Given the description of an element on the screen output the (x, y) to click on. 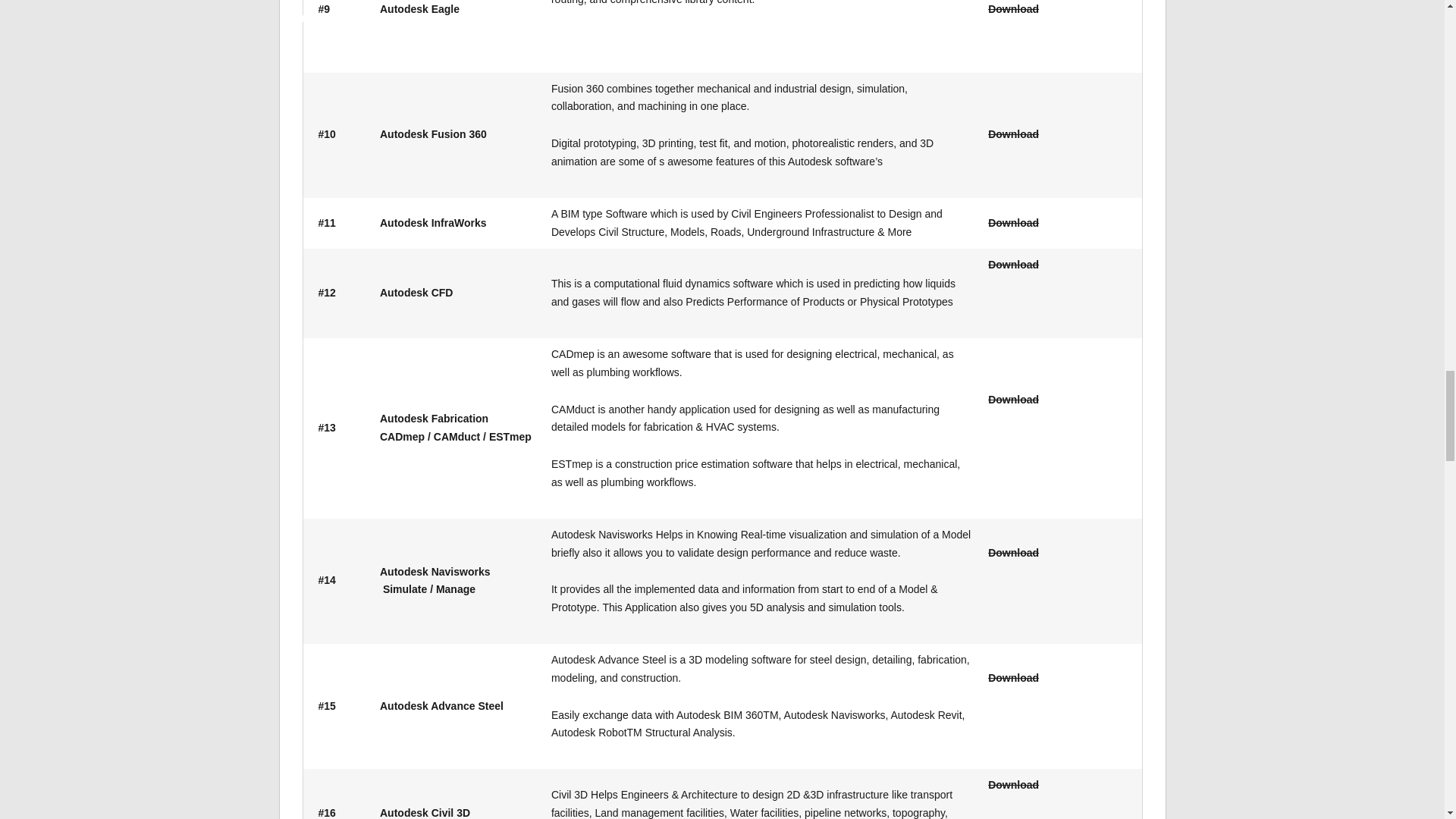
Download (1013, 9)
Download (1013, 223)
Download (1013, 677)
Download (1013, 133)
Download (1013, 552)
Download (1013, 784)
Download (1013, 264)
Download (1013, 399)
